Given the description of an element on the screen output the (x, y) to click on. 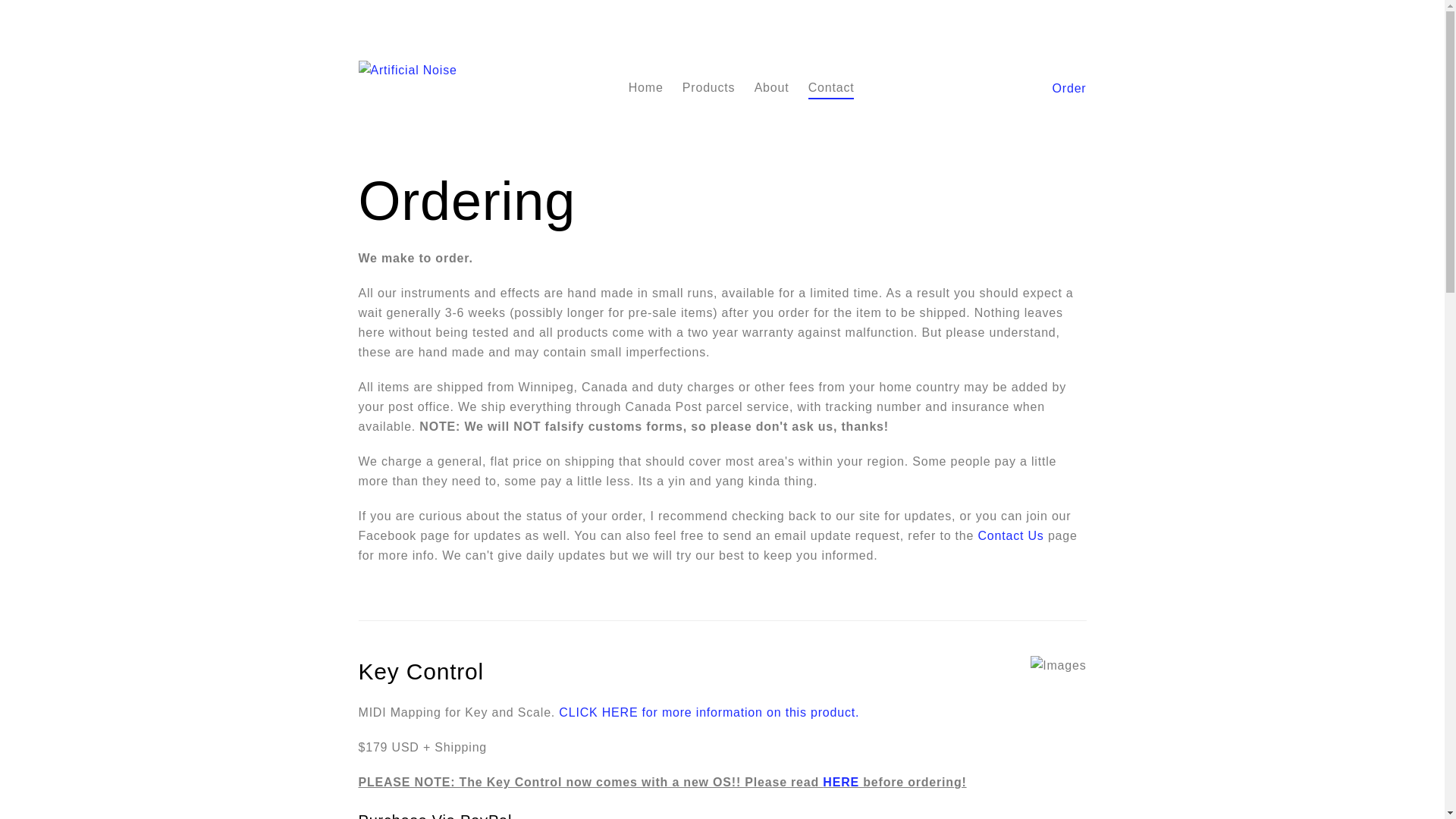
CLICK HERE for more information on this product. Element type: text (708, 713)
Contact Element type: text (831, 88)
HERE Element type: text (840, 782)
Home Element type: text (645, 88)
Products Element type: text (708, 88)
Contact Us Element type: text (1011, 536)
About Element type: text (771, 88)
Order Element type: text (1069, 89)
